Given the description of an element on the screen output the (x, y) to click on. 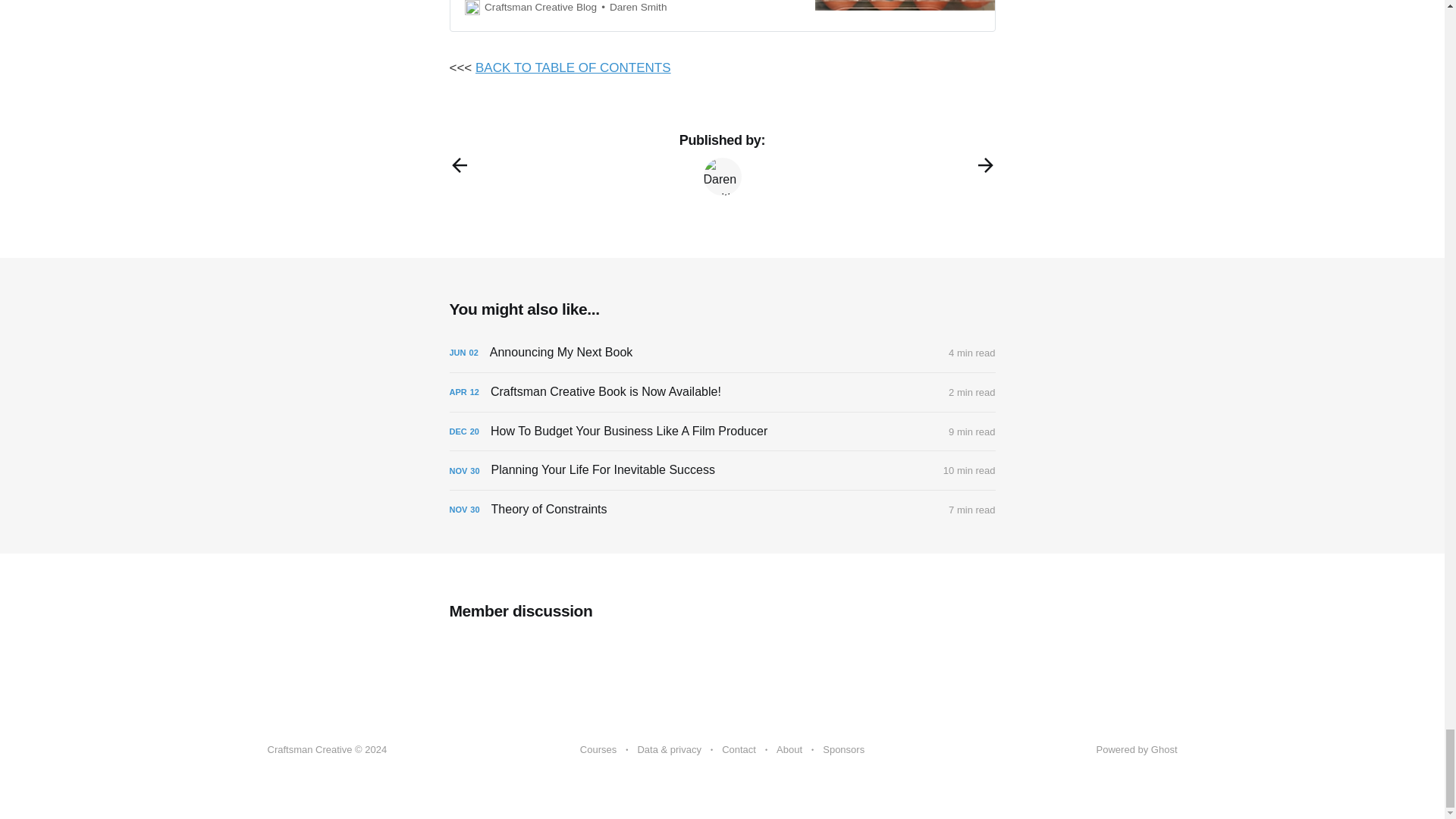
Contact (738, 750)
Courses (597, 750)
BACK TO TABLE OF CONTENTS (573, 67)
About (789, 750)
